Given the description of an element on the screen output the (x, y) to click on. 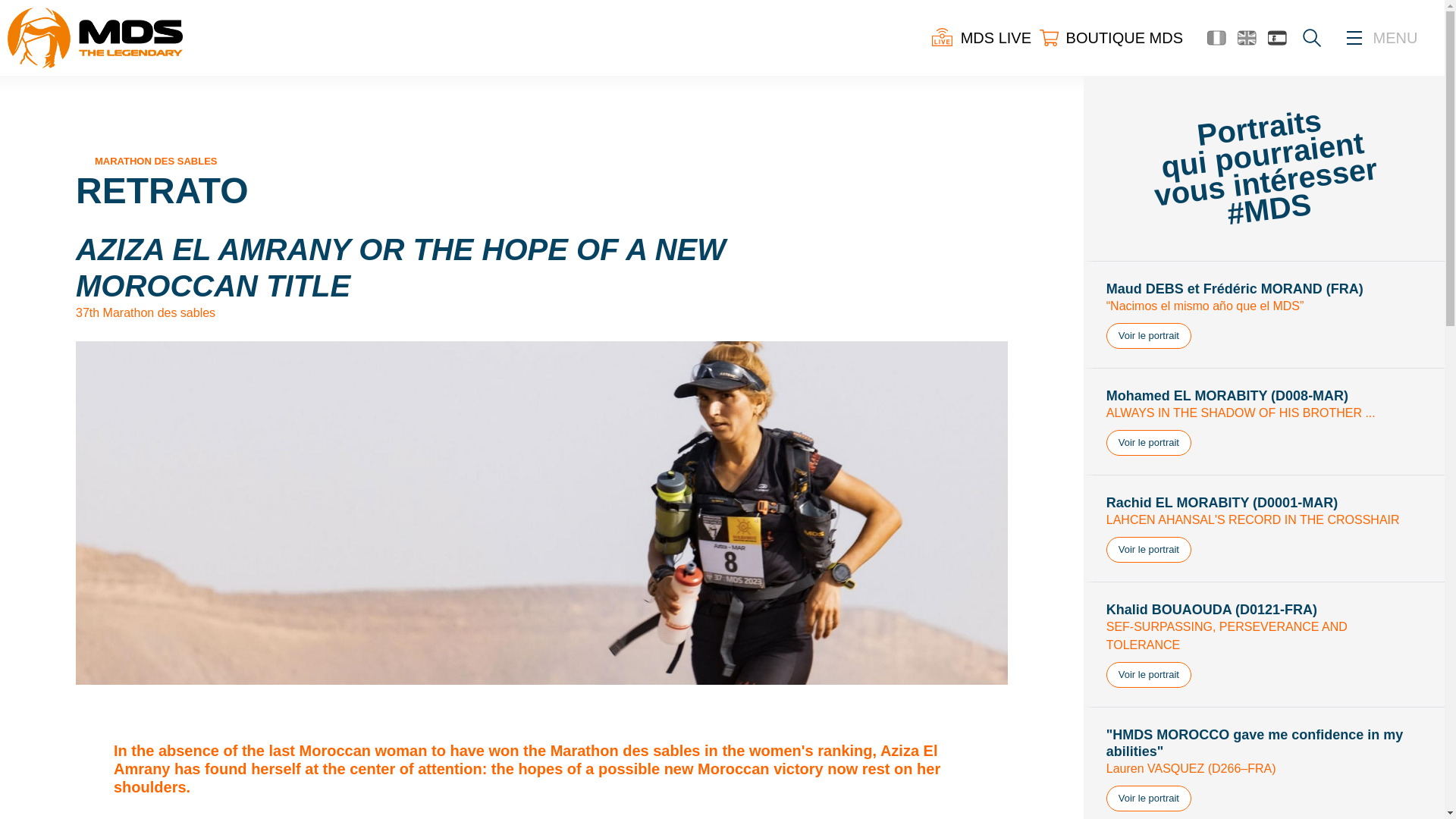
MDS LIVE (980, 37)
RETRATO (161, 190)
MENU (1394, 38)
BOUTIQUE MDS (1110, 37)
